Given the description of an element on the screen output the (x, y) to click on. 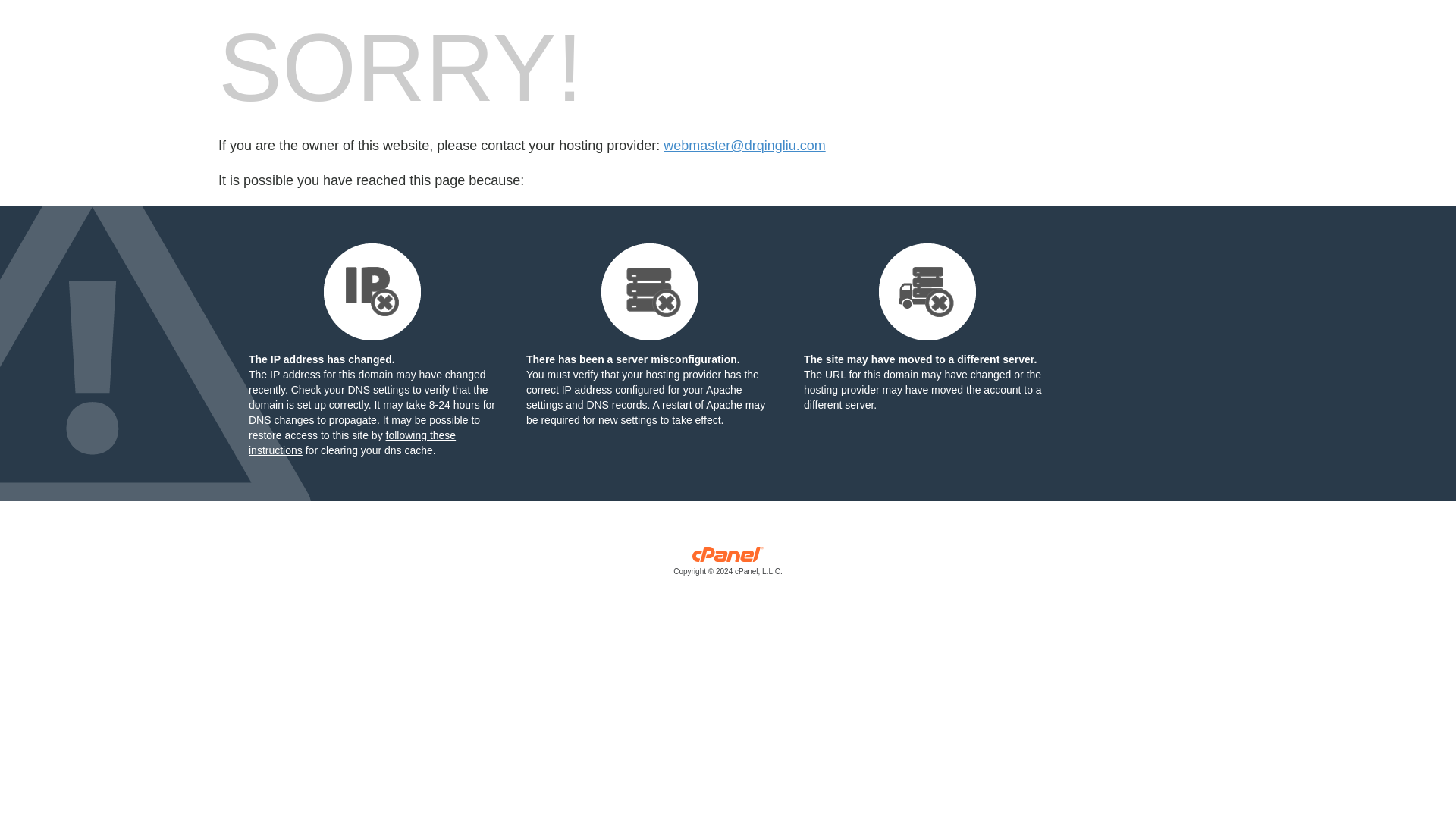
cPanel, L.L.C. (727, 564)
following these instructions (351, 442)
Click this link to contact the host (744, 145)
